Given the description of an element on the screen output the (x, y) to click on. 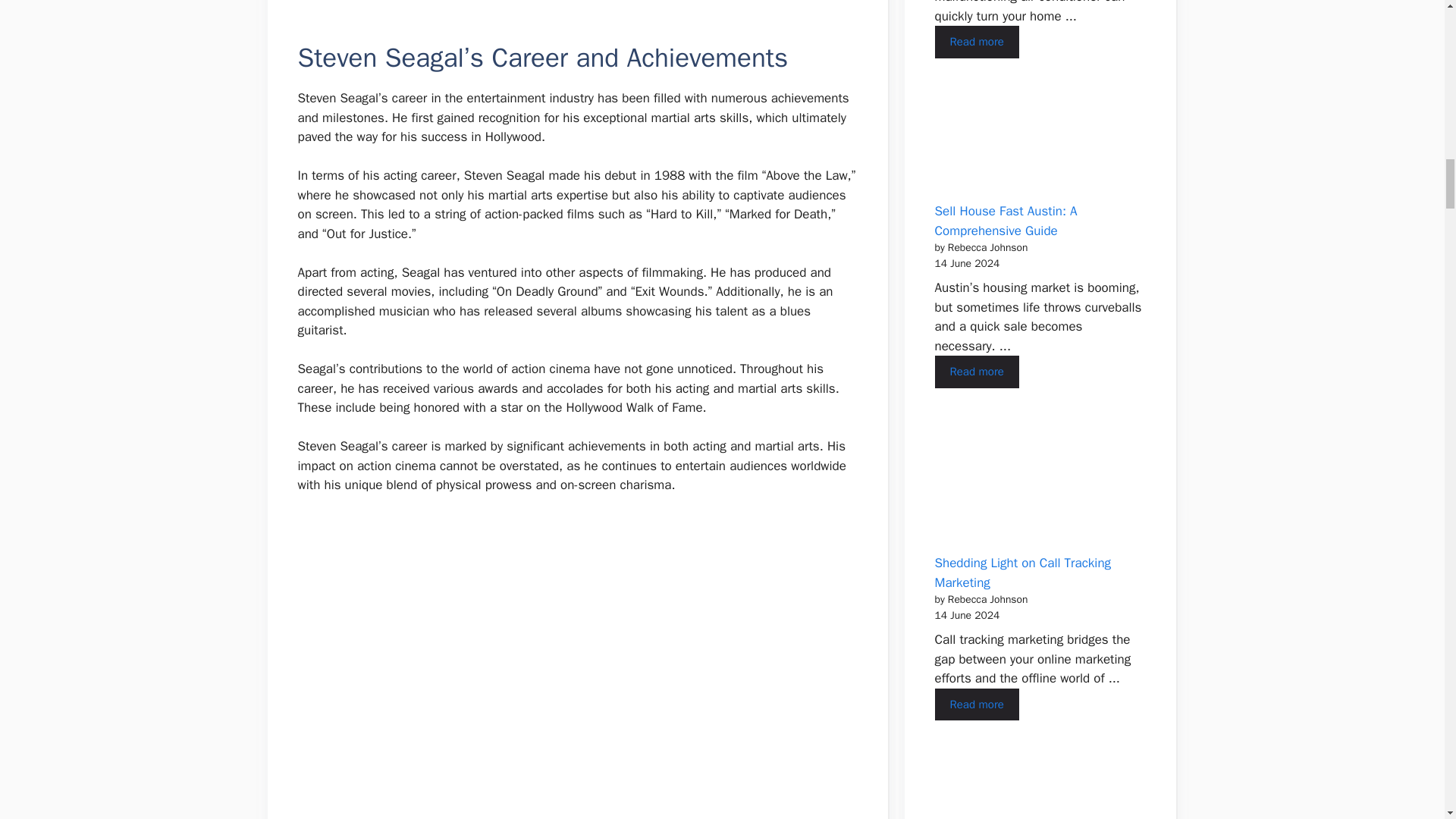
Keeping Your Cool: A Guide to AC Repair Coral Springs FL (975, 41)
Shedding Light on Call Tracking Marketing (975, 704)
Sell House Fast Austin: A Comprehensive Guide (975, 371)
